Given the description of an element on the screen output the (x, y) to click on. 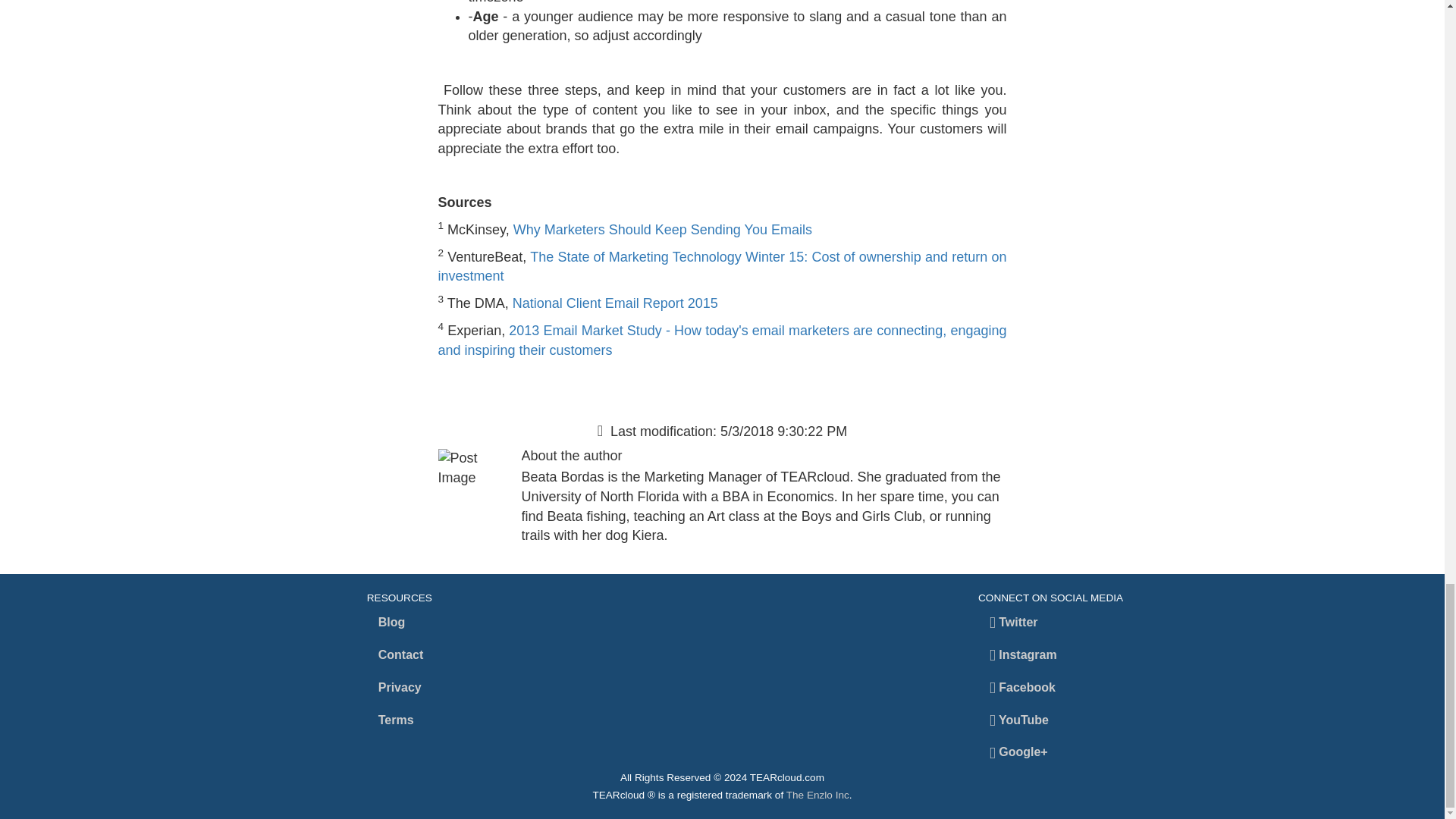
National Client Email Report 2015 (614, 303)
Why Marketers Should Keep Sending You Emails (662, 229)
